Given the description of an element on the screen output the (x, y) to click on. 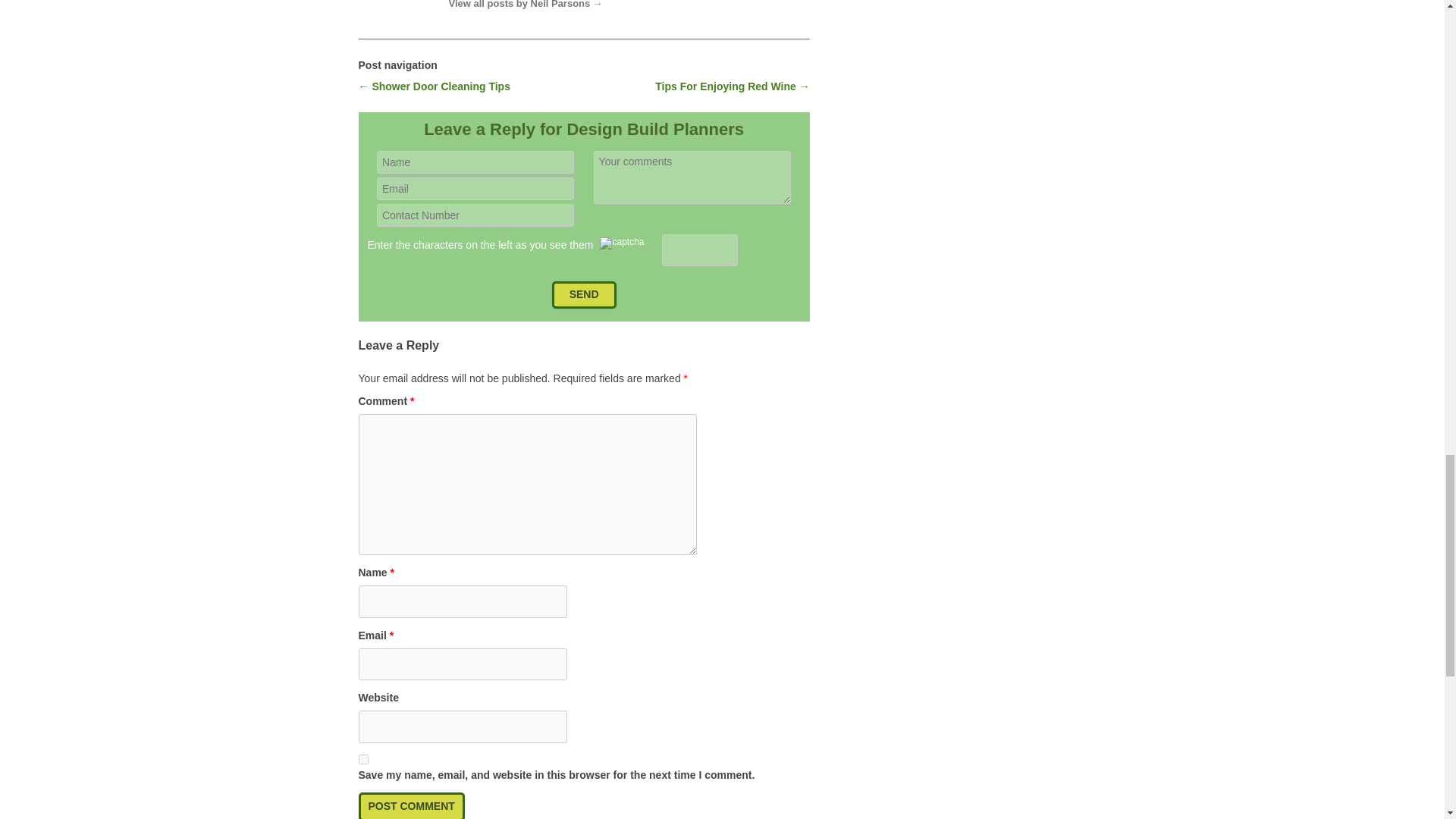
Post Comment (411, 805)
Send (583, 294)
yes (363, 759)
